Given the description of an element on the screen output the (x, y) to click on. 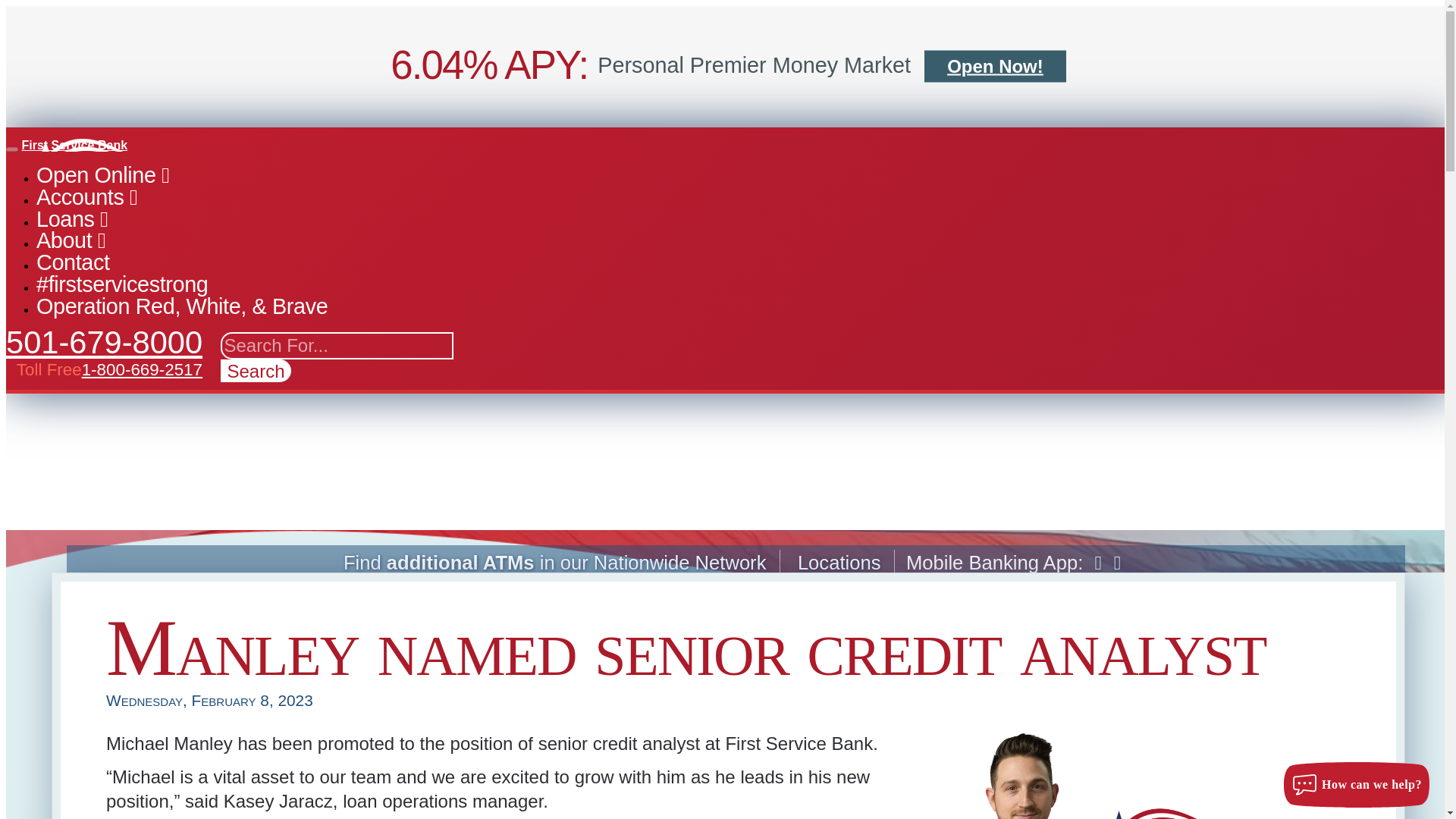
Manley named senior credit analyst (1123, 775)
Toggle navigation (11, 149)
Accounts (86, 197)
Open Online (102, 174)
Locations (839, 562)
Open Now! (994, 66)
About (70, 240)
First Service Bank (74, 144)
Loans (71, 218)
Read More (994, 66)
Find ATMs in Our Network (555, 562)
